Given the description of an element on the screen output the (x, y) to click on. 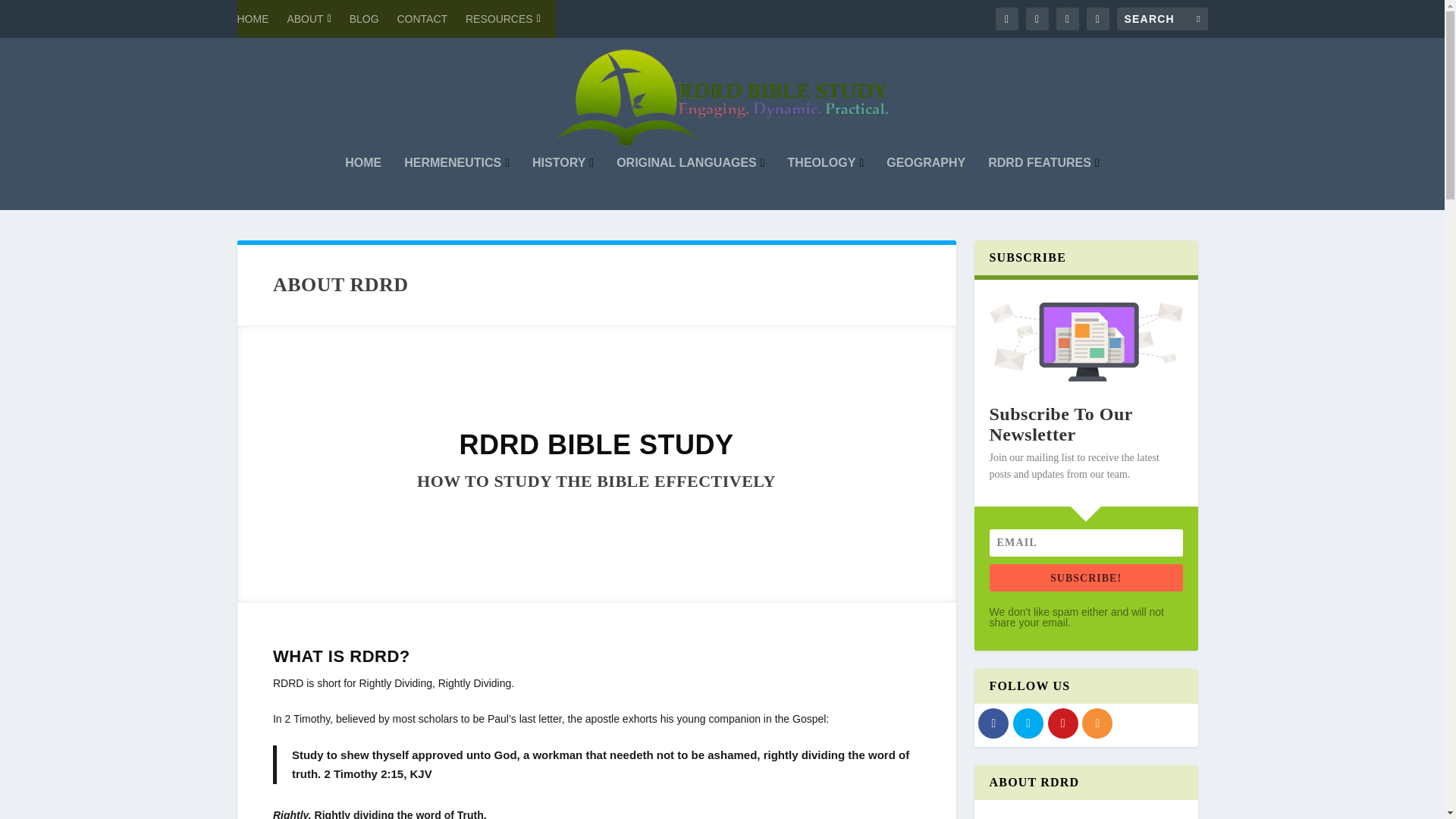
RESOURCES (502, 18)
HERMENEUTICS (456, 183)
ABOUT (308, 18)
HISTORY (563, 183)
CONTACT (421, 18)
Search for: (1161, 18)
ORIGINAL LANGUAGES (689, 183)
THEOLOGY (825, 183)
